Given the description of an element on the screen output the (x, y) to click on. 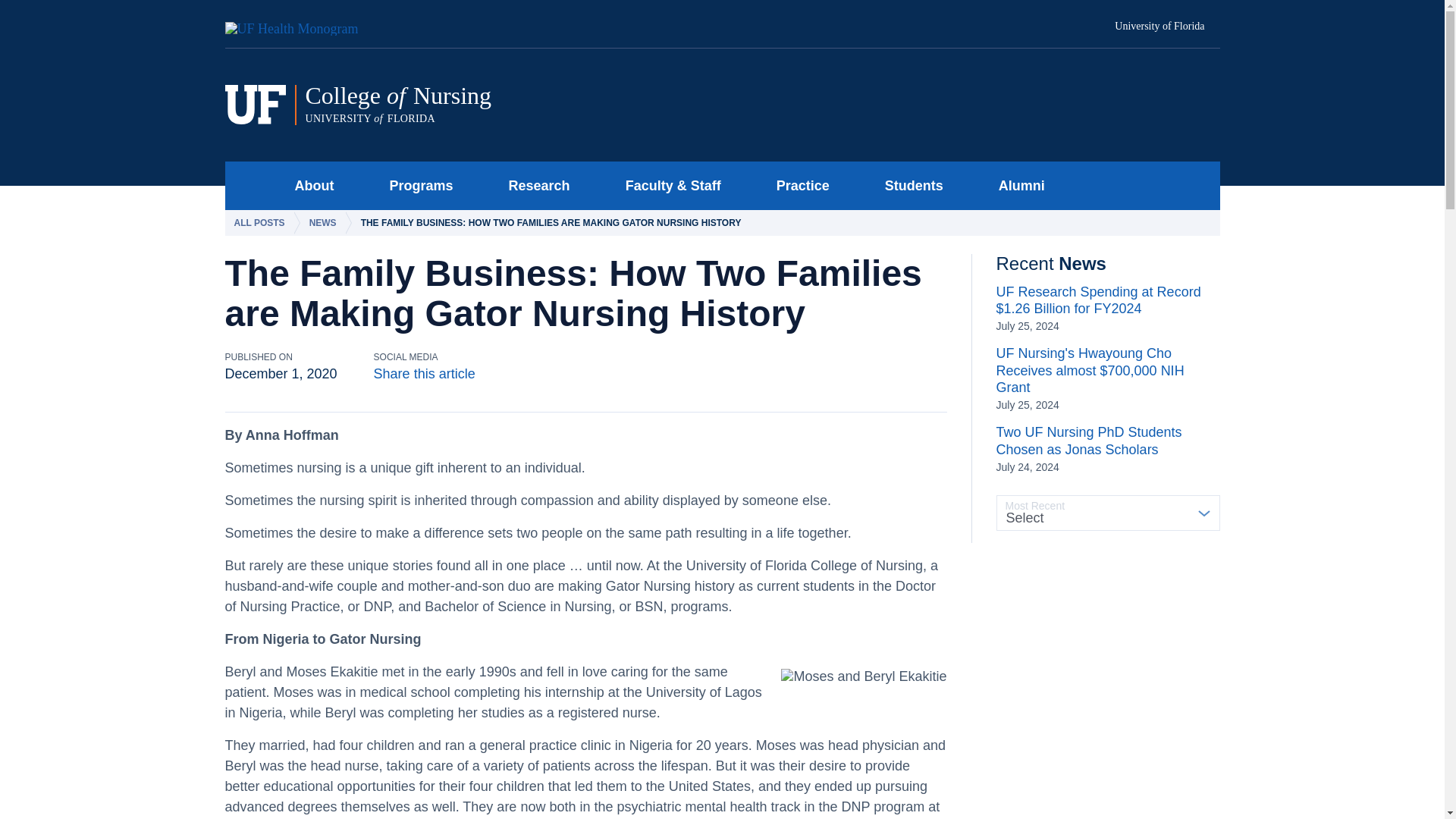
UF Health (299, 24)
Research (515, 105)
Skip to main content (534, 185)
Programs (309, 185)
Home (417, 185)
University of Florida (250, 185)
